Given the description of an element on the screen output the (x, y) to click on. 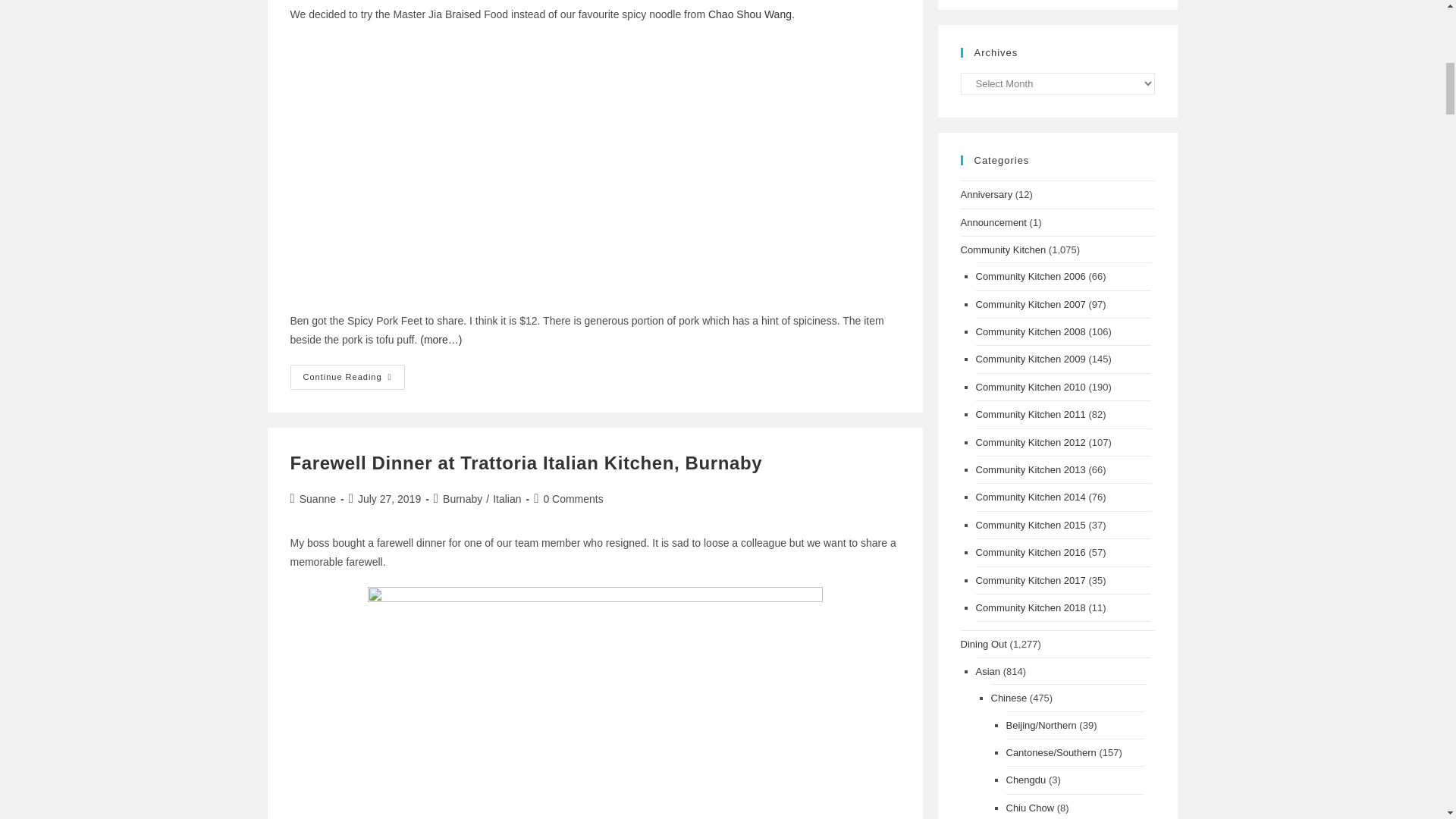
Burnaby (461, 499)
Chao Shou Wang (749, 14)
Farewell Dinner at Trattoria Italian Kitchen, Burnaby (525, 462)
Suanne (317, 499)
0 Comments (572, 499)
Italian (507, 499)
Posts by Suanne (317, 499)
